Given the description of an element on the screen output the (x, y) to click on. 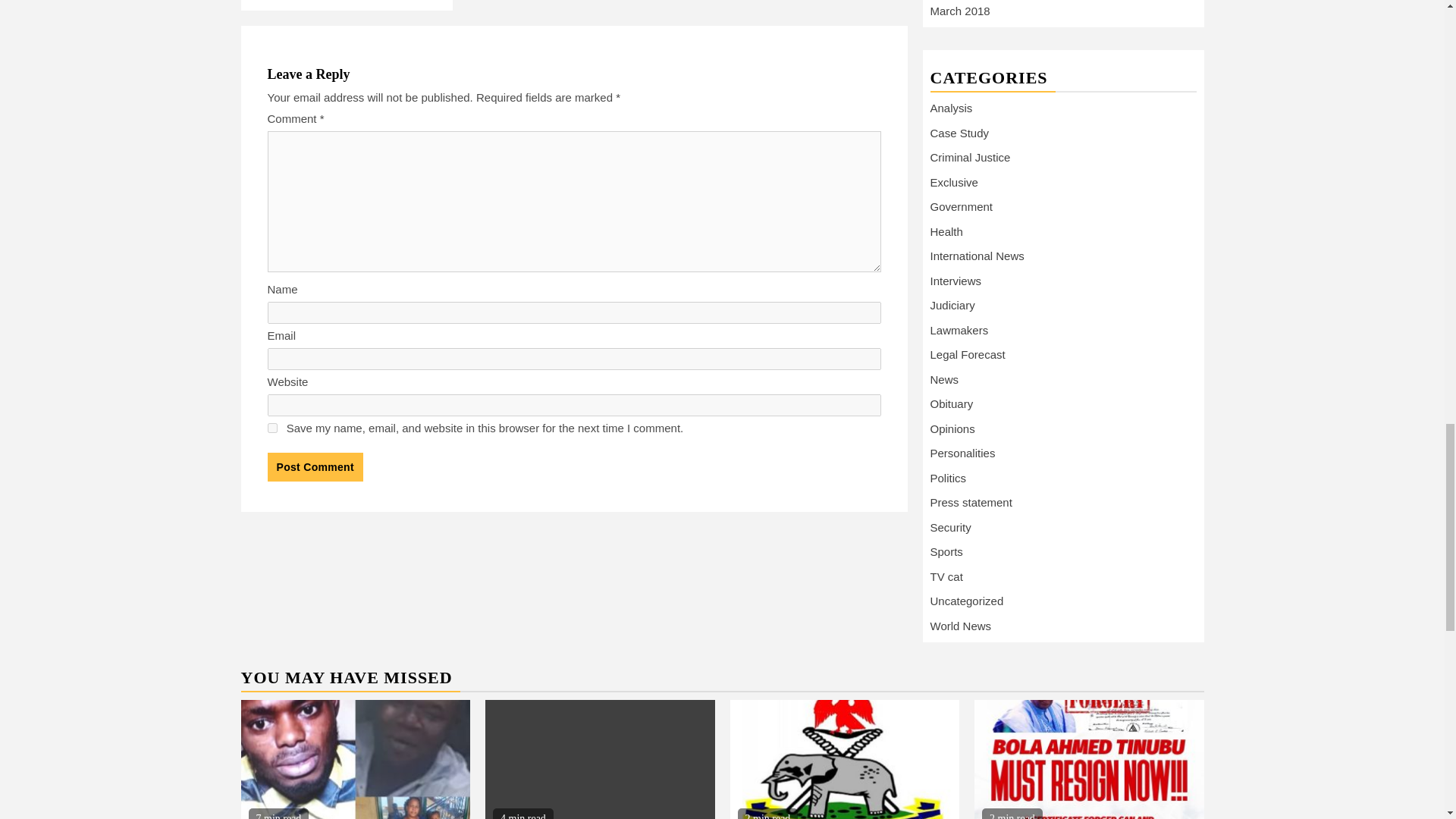
Post Comment (314, 466)
yes (271, 428)
